Given the description of an element on the screen output the (x, y) to click on. 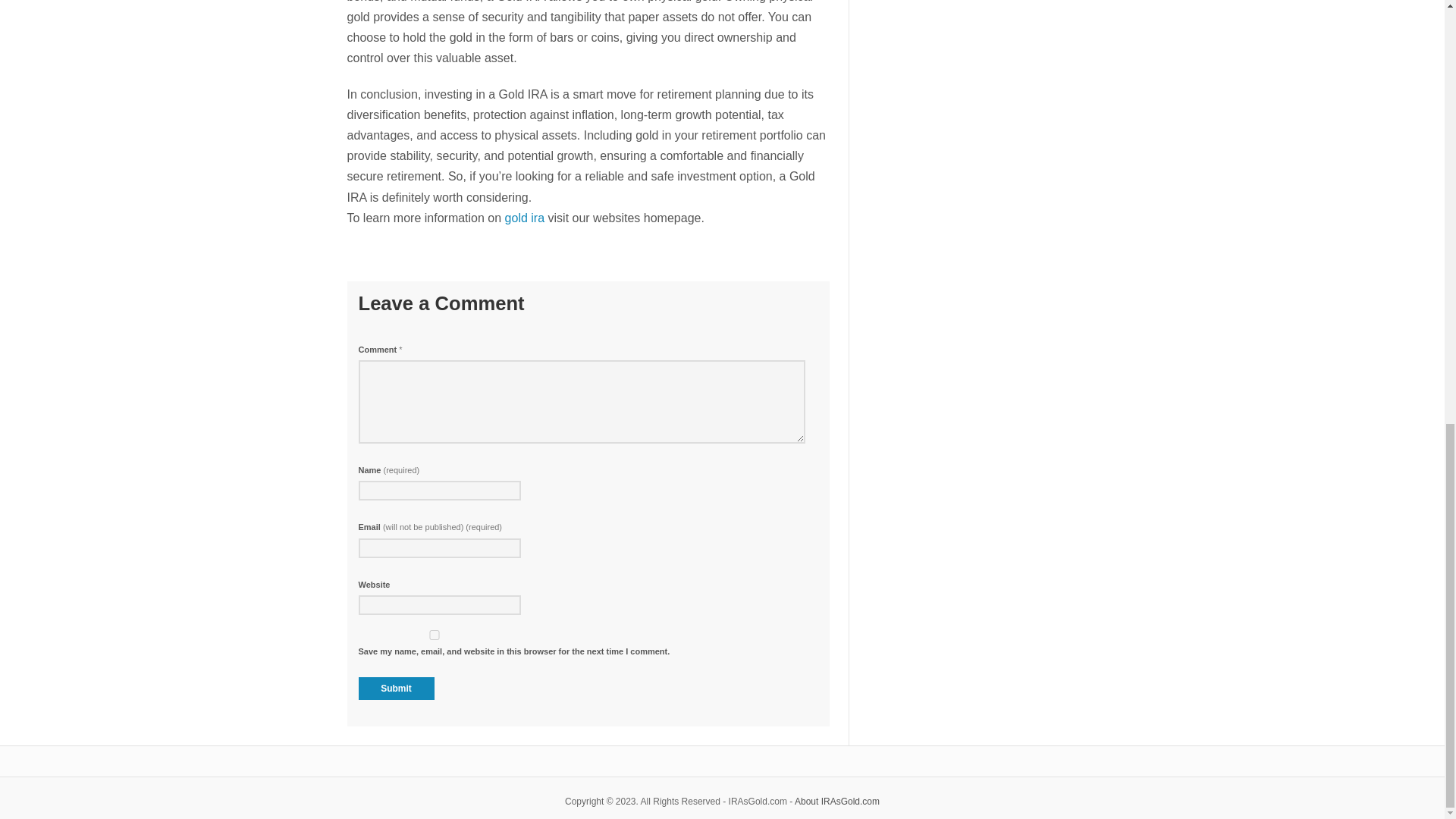
Submit (395, 688)
yes (433, 634)
About IRAsGold.com (836, 801)
gold ira (524, 217)
Submit (395, 688)
